Given the description of an element on the screen output the (x, y) to click on. 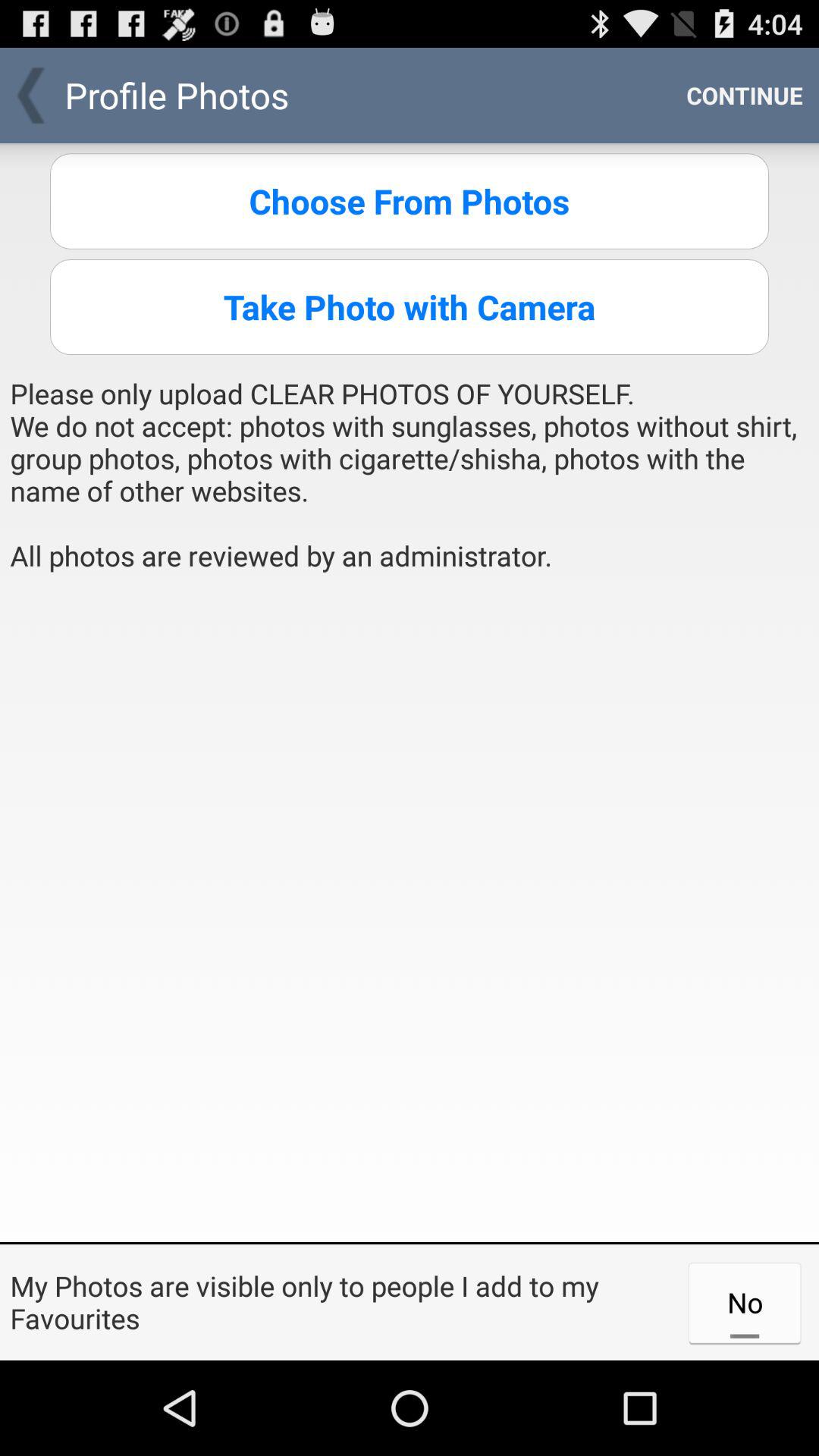
flip to the no (744, 1302)
